Given the description of an element on the screen output the (x, y) to click on. 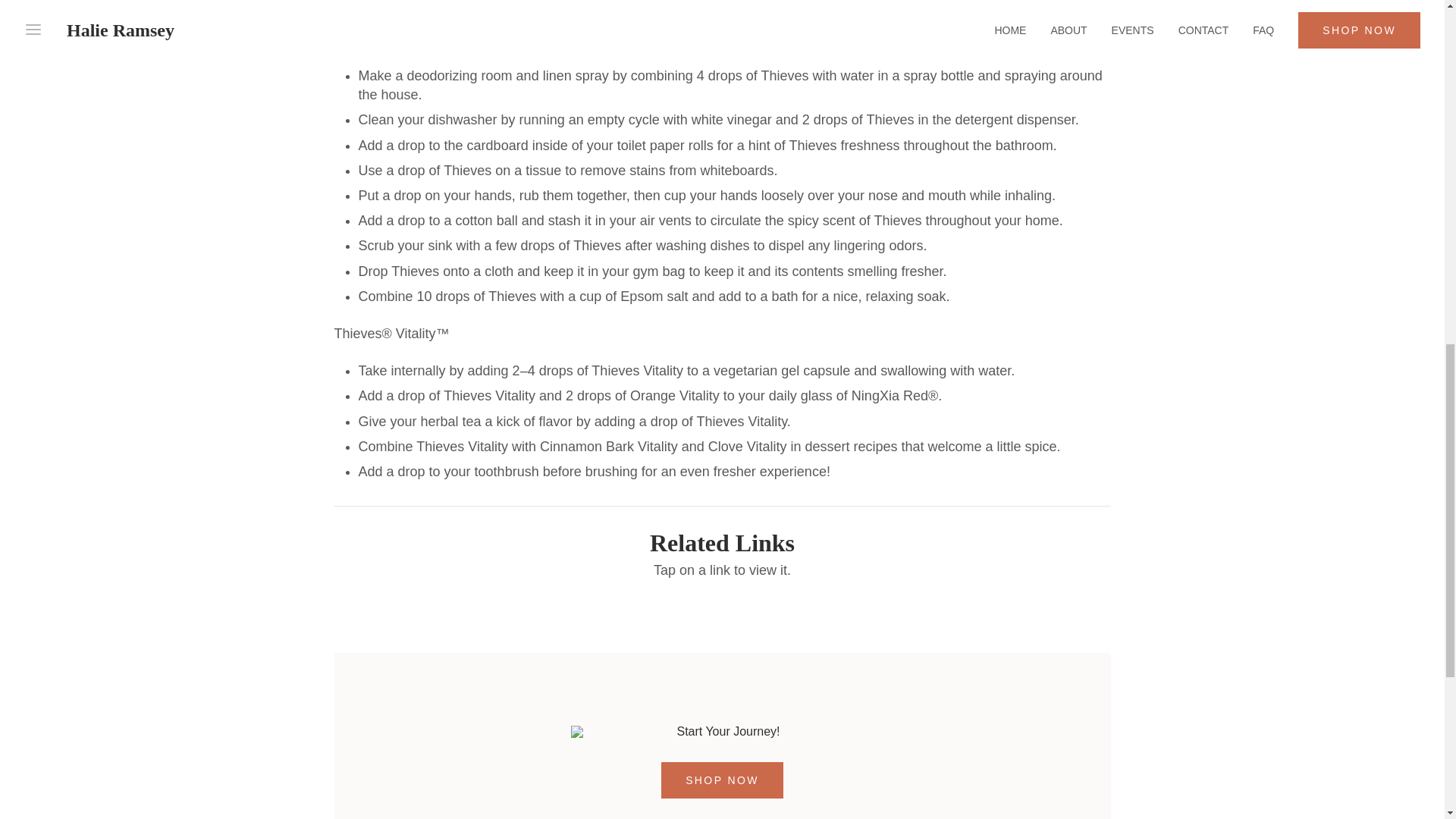
SHOP NOW (722, 780)
